Given the description of an element on the screen output the (x, y) to click on. 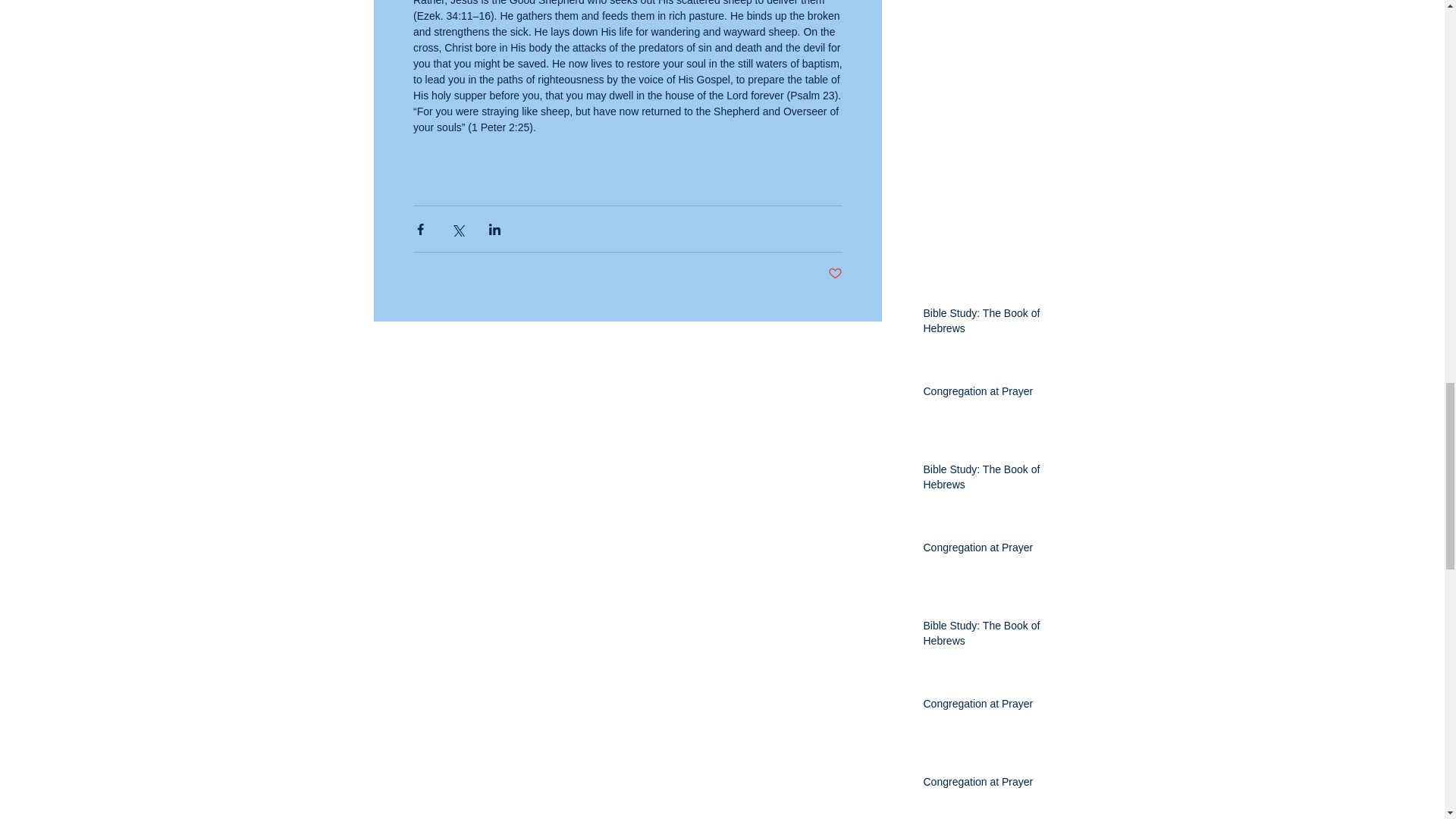
Bible Study: The Book of Hebrews (992, 636)
Congregation at Prayer (992, 785)
Congregation at Prayer (992, 707)
Congregation at Prayer (992, 550)
Bible Study: The Book of Hebrews (992, 479)
Post not marked as liked (835, 273)
Congregation at Prayer (992, 394)
Bible Study: The Book of Hebrews (992, 324)
